Given the description of an element on the screen output the (x, y) to click on. 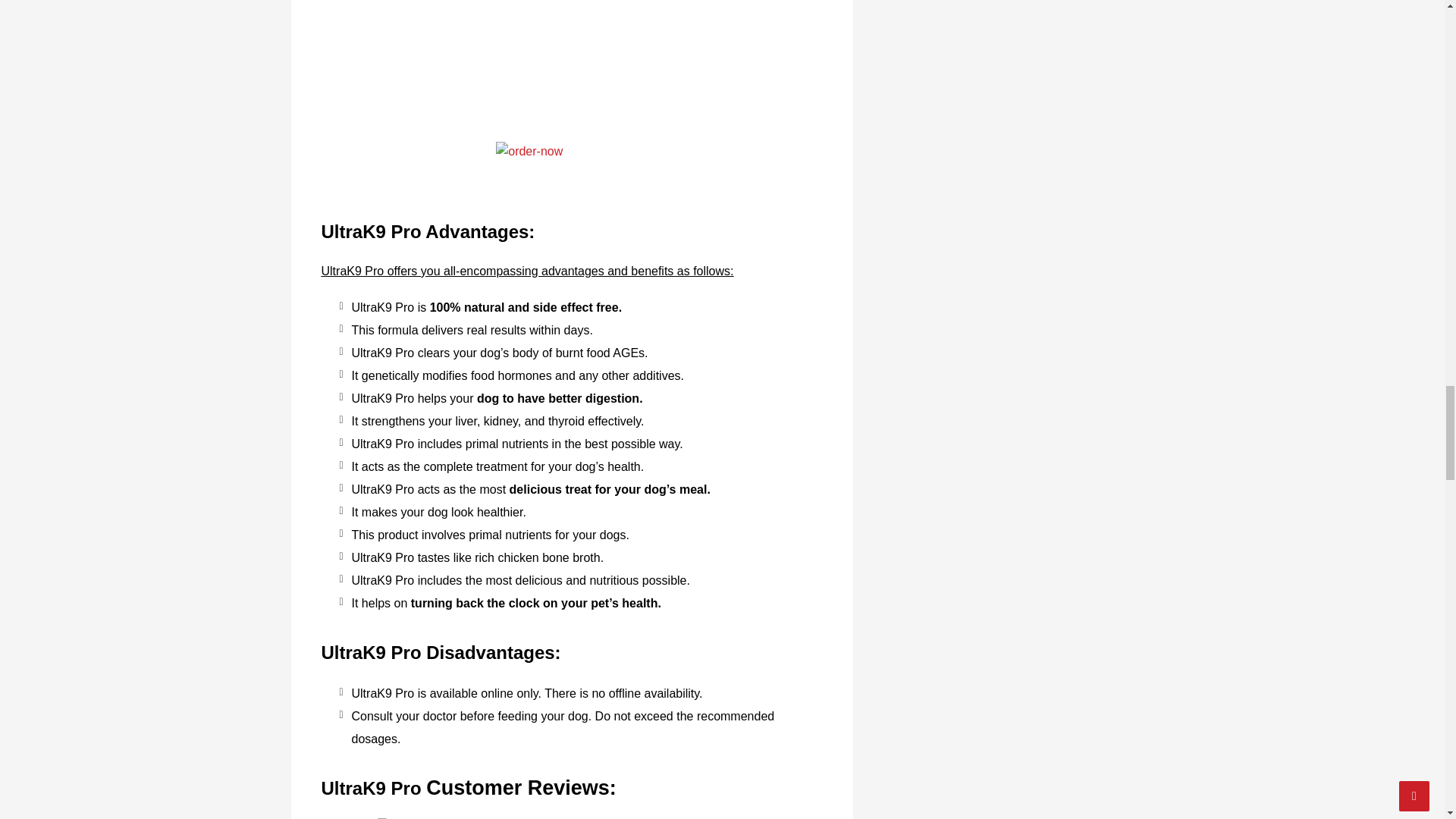
order-now (571, 167)
UltraK9 Pro Supplement Facts (571, 63)
